Given the description of an element on the screen output the (x, y) to click on. 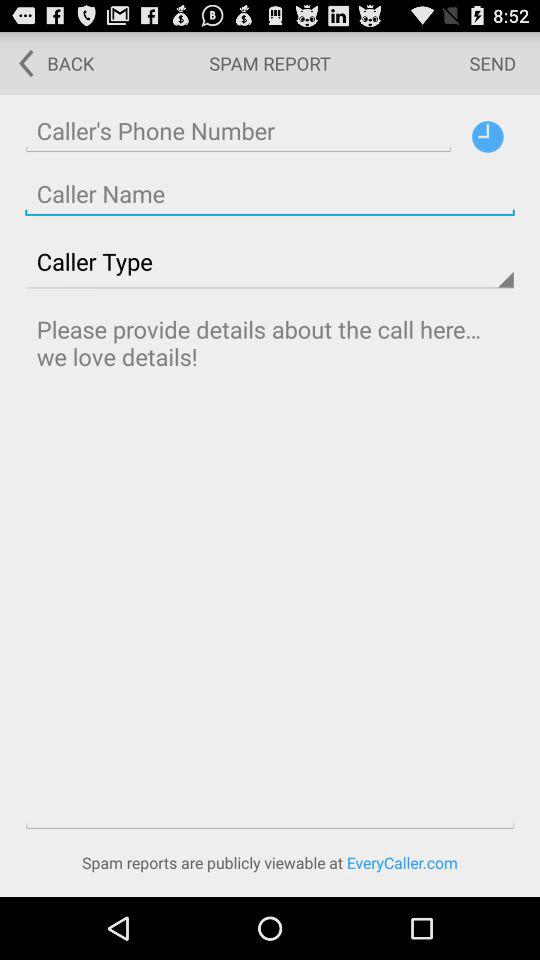
write option (270, 568)
